Given the description of an element on the screen output the (x, y) to click on. 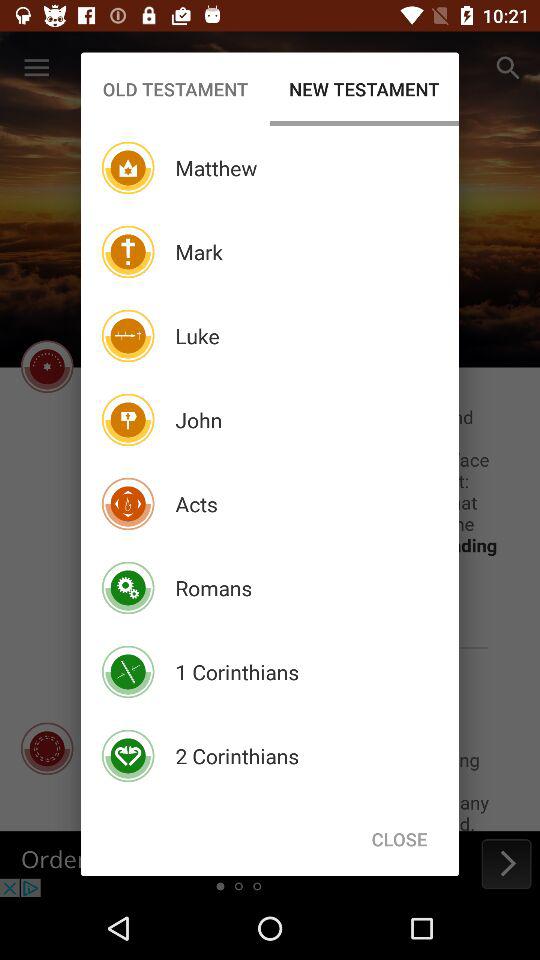
choose icon above the 1 corinthians item (213, 587)
